Given the description of an element on the screen output the (x, y) to click on. 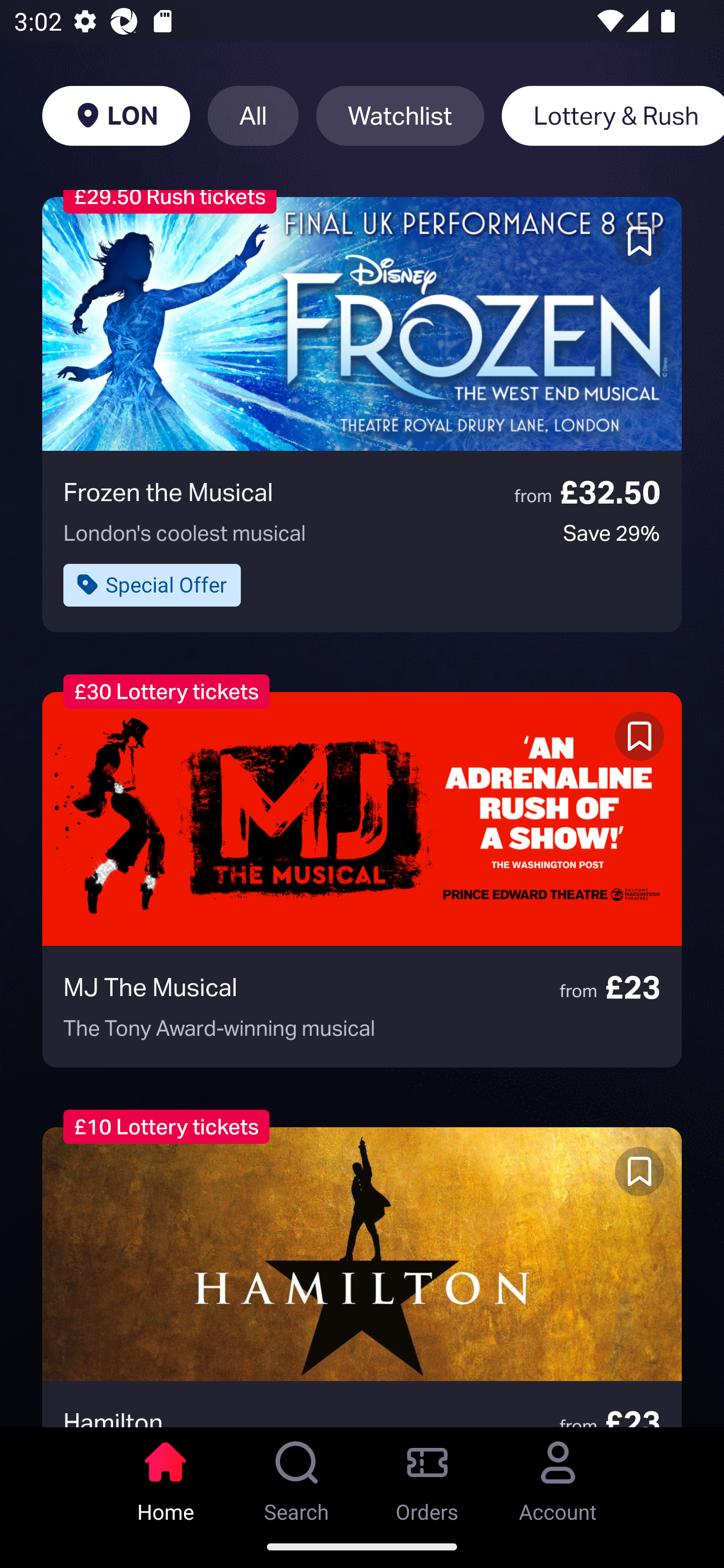
LON (115, 115)
All (252, 115)
Watchlist (400, 115)
Lottery & Rush (612, 115)
Hamilton from £23 (361, 1276)
Search (296, 1475)
Orders (427, 1475)
Account (558, 1475)
